Given the description of an element on the screen output the (x, y) to click on. 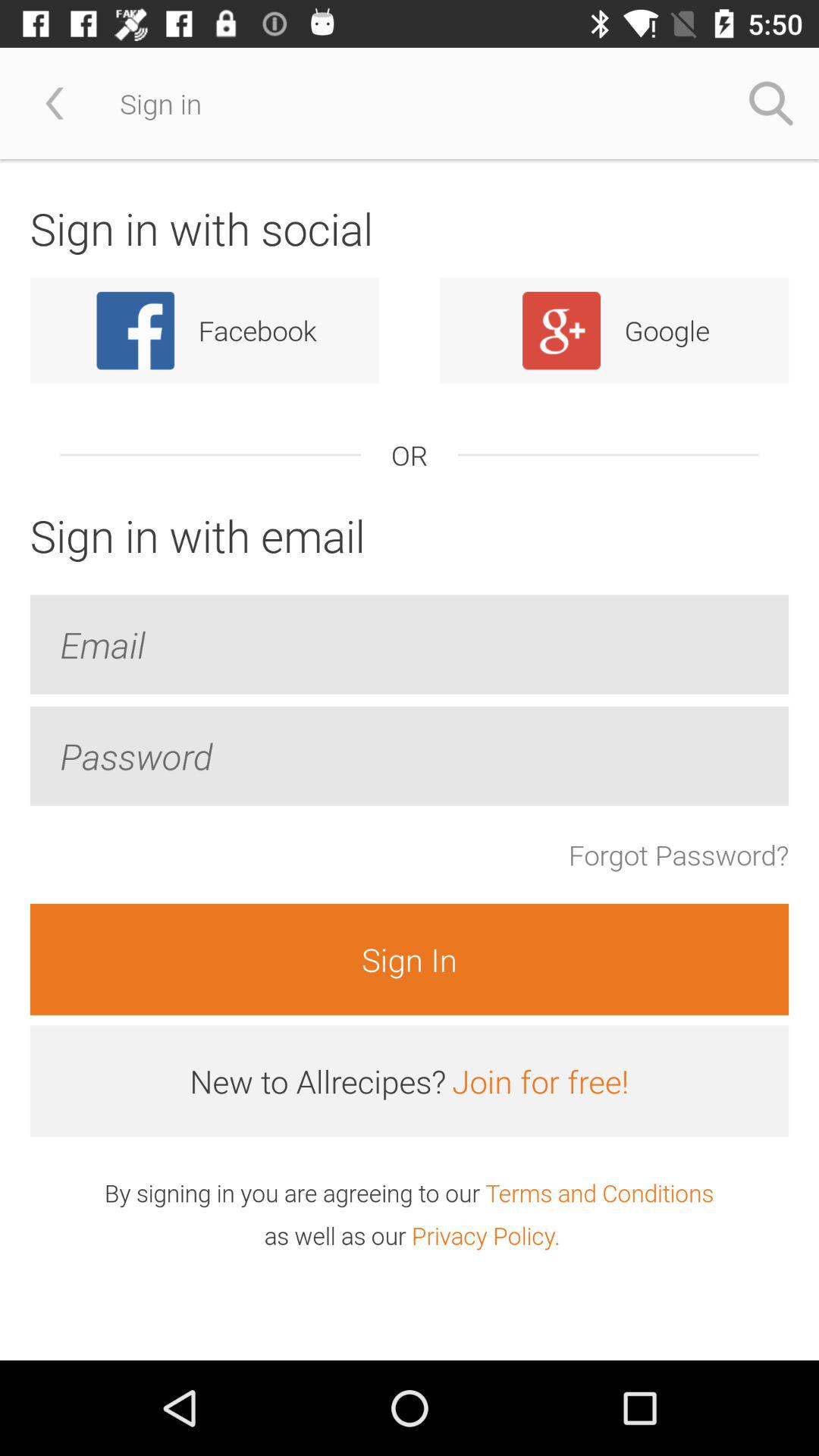
choose item below the join for free! icon (599, 1192)
